Given the description of an element on the screen output the (x, y) to click on. 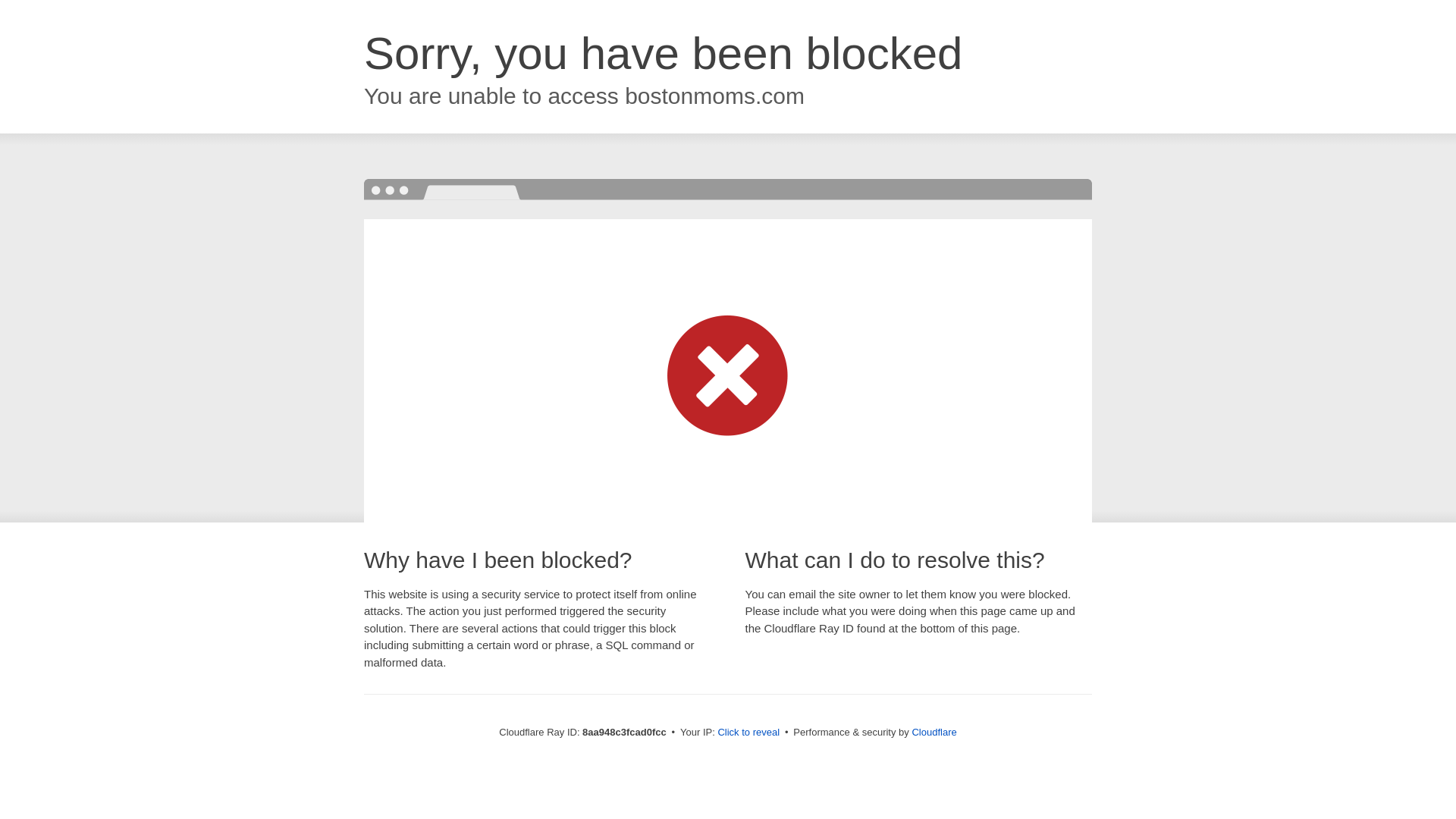
Cloudflare (933, 731)
Click to reveal (747, 732)
